Given the description of an element on the screen output the (x, y) to click on. 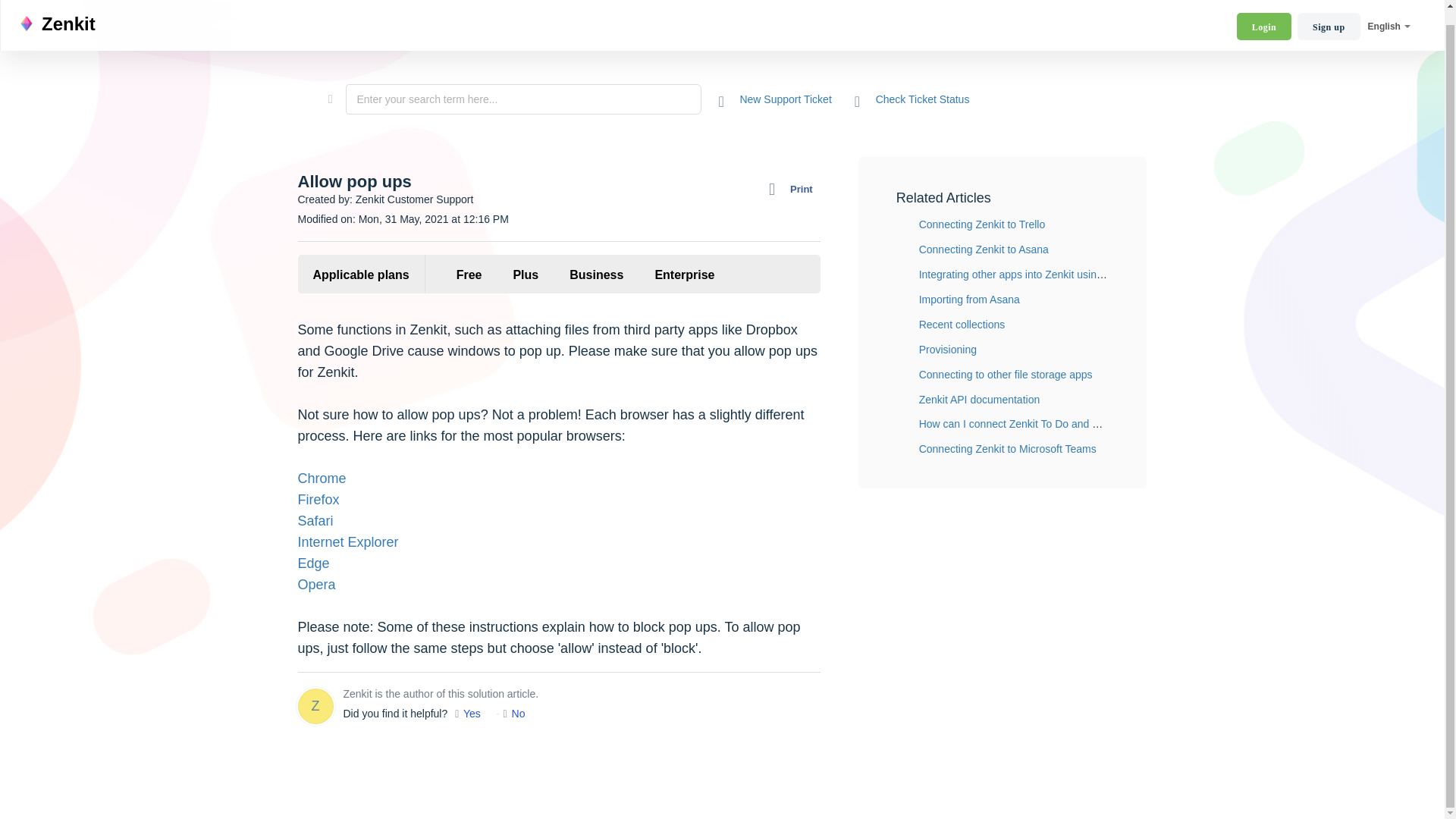
Firefox (318, 499)
Recent collections (962, 324)
Check ticket status (911, 98)
Chrome (321, 478)
Safari (315, 520)
Connecting Zenkit to Microsoft Teams (1007, 449)
Check Ticket Status (911, 98)
Internet Explorer (347, 541)
Opera (315, 584)
Importing from Asana (969, 299)
Connecting to other file storage apps (1005, 374)
Integrating other apps into Zenkit using Zapier (1026, 274)
Provisioning (947, 349)
Print this Article (794, 189)
New Support Ticket (775, 98)
